Given the description of an element on the screen output the (x, y) to click on. 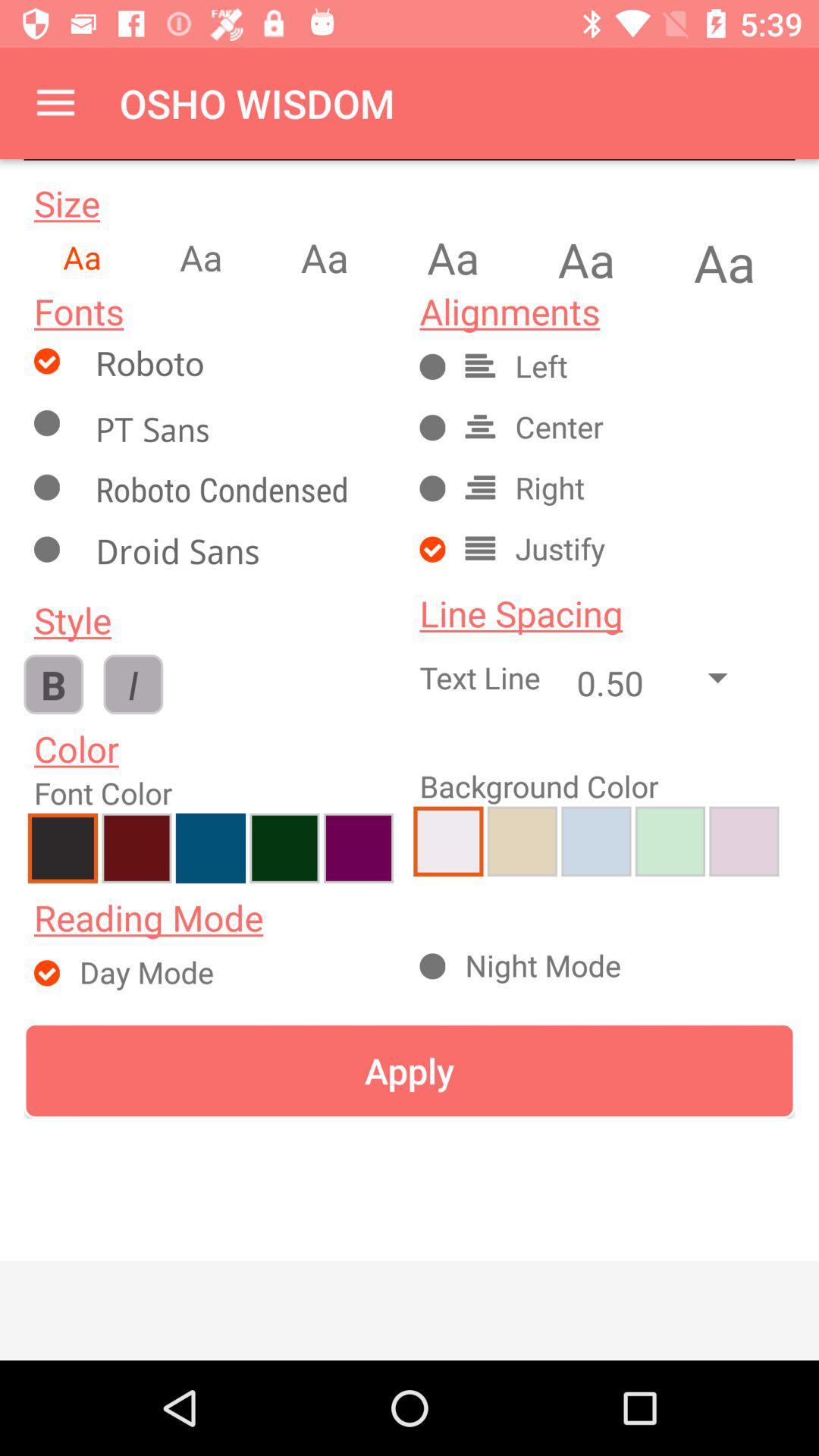
choose background color (448, 841)
